Given the description of an element on the screen output the (x, y) to click on. 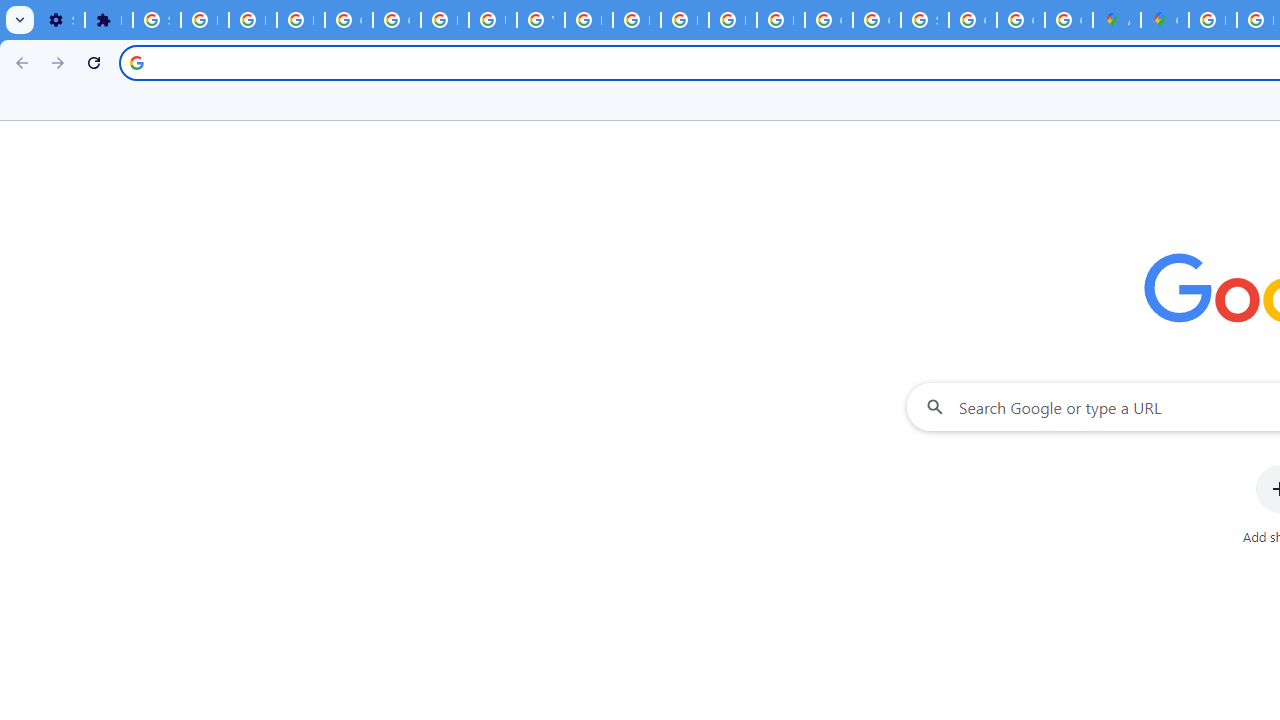
Sign in - Google Accounts (924, 20)
